Given the description of an element on the screen output the (x, y) to click on. 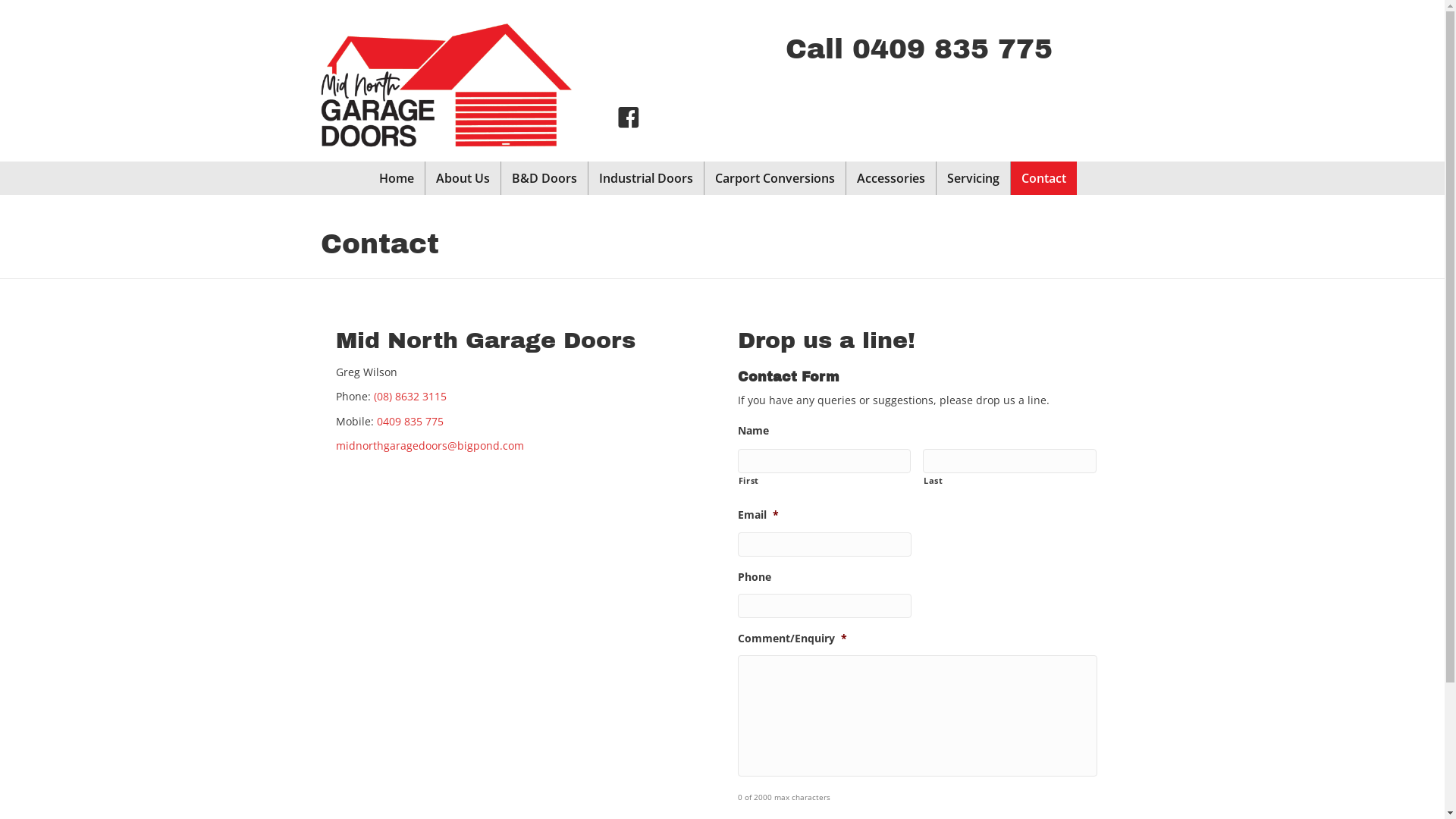
Home Element type: text (396, 177)
Carport Conversions Element type: text (773, 177)
Industrial Doors Element type: text (645, 177)
midnorthgaragedoors@bigpond.com Element type: text (429, 445)
Call 0409 835 775 Element type: text (918, 49)
mngd-logo-600 Element type: hover (443, 84)
Servicing Element type: text (972, 177)
0409 835 775 Element type: text (409, 421)
About Us Element type: text (461, 177)
(08) 8632 3115 Element type: text (409, 396)
B&D Doors Element type: text (543, 177)
Contact Element type: text (1043, 177)
Accessories Element type: text (890, 177)
